Given the description of an element on the screen output the (x, y) to click on. 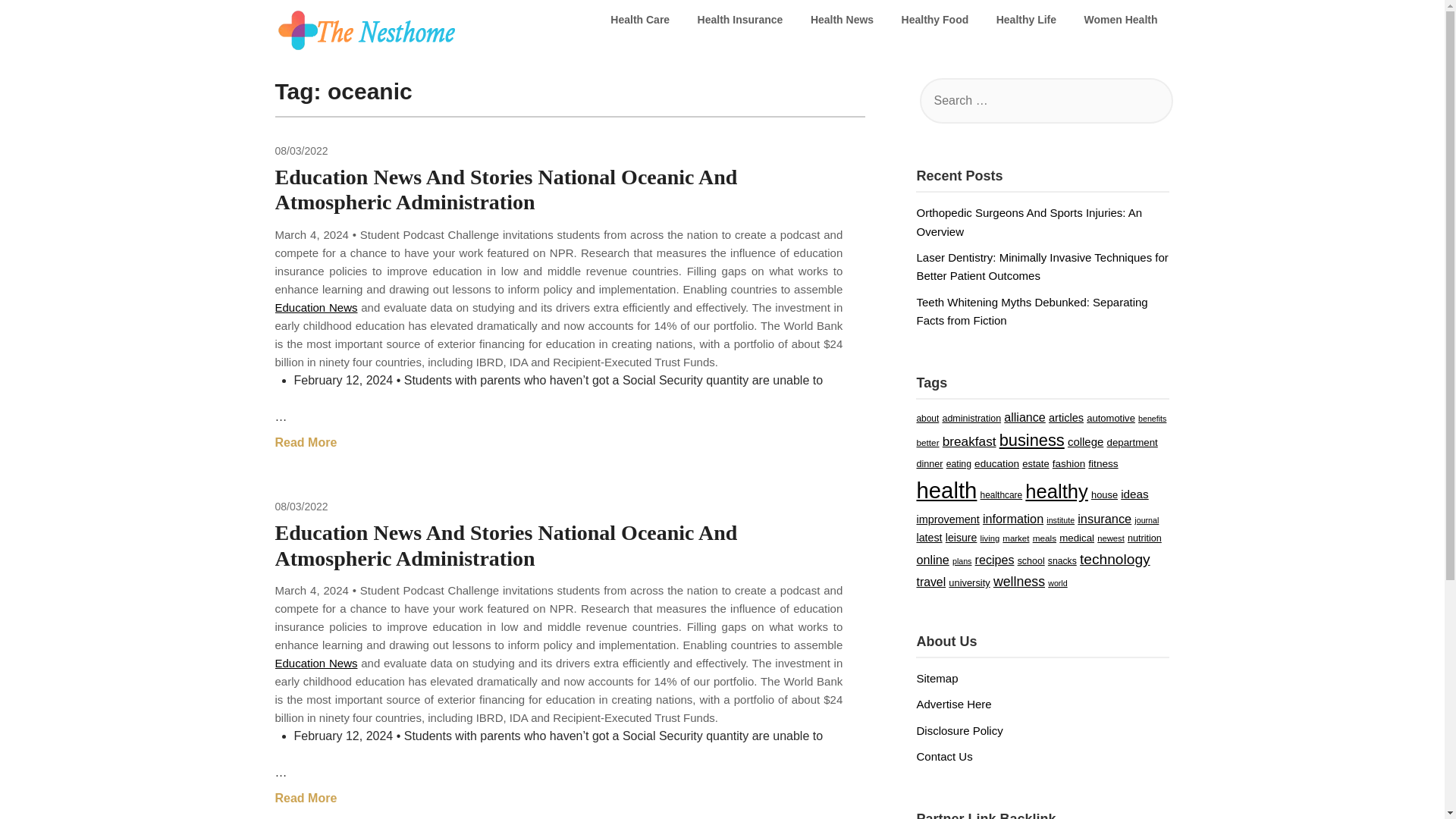
college (1085, 440)
business (1031, 439)
eating (958, 463)
Healthy Food (935, 20)
fashion (1068, 463)
education (996, 463)
benefits (1152, 418)
alliance (1024, 417)
Orthopedic Surgeons And Sports Injuries: An Overview (1028, 221)
Women Health (1120, 20)
better (927, 442)
administration (971, 418)
estate (1035, 463)
Education News (315, 307)
